Given the description of an element on the screen output the (x, y) to click on. 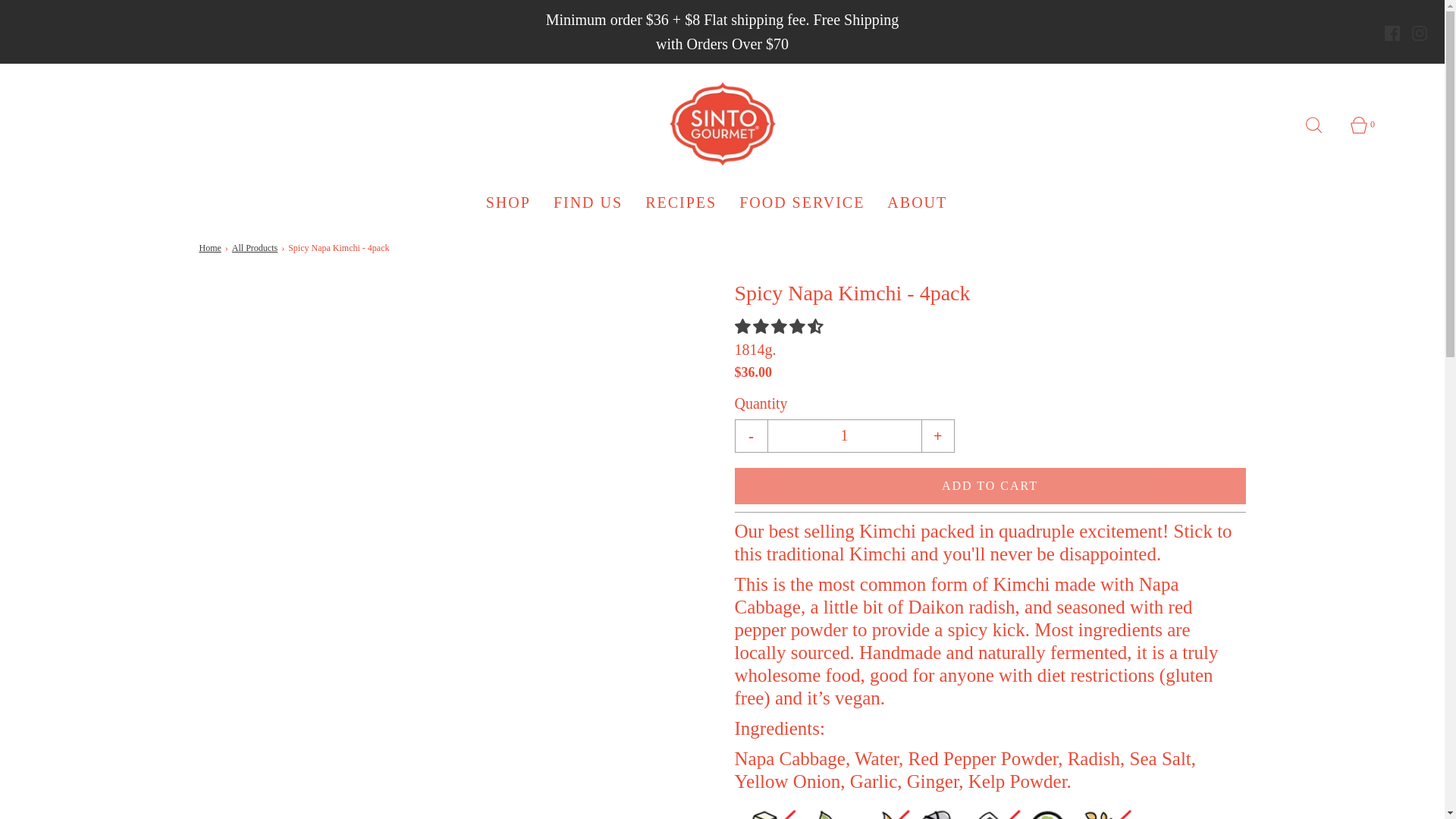
RECIPES (680, 202)
Instagram icon (1419, 32)
Search (1322, 124)
Instagram icon (1419, 32)
FIND US (588, 202)
0 (1367, 124)
Facebook icon (1391, 32)
Cart (1367, 124)
Facebook icon (1391, 32)
1 (843, 435)
